Given the description of an element on the screen output the (x, y) to click on. 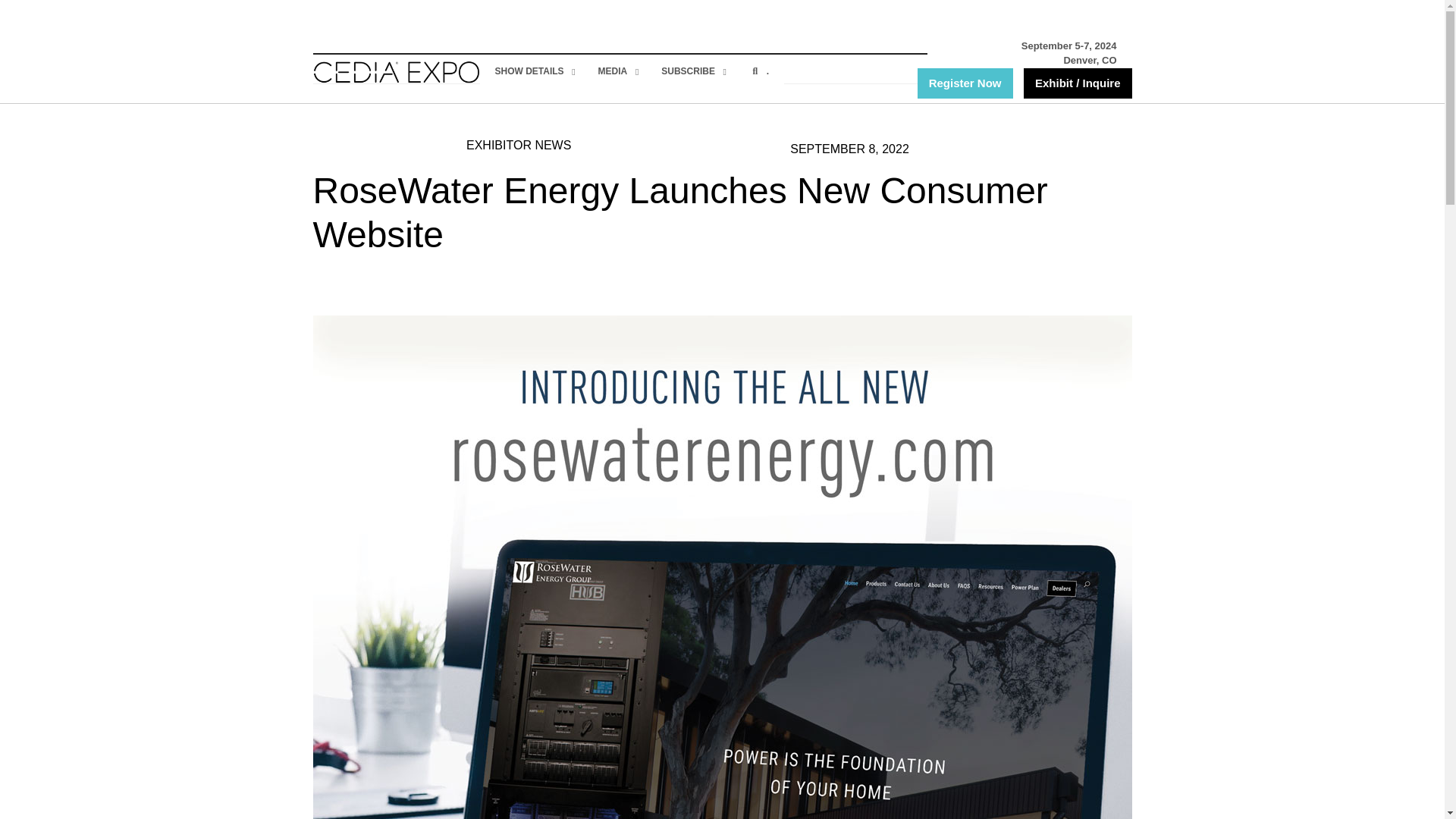
SHOW DETAILS (530, 71)
